Given the description of an element on the screen output the (x, y) to click on. 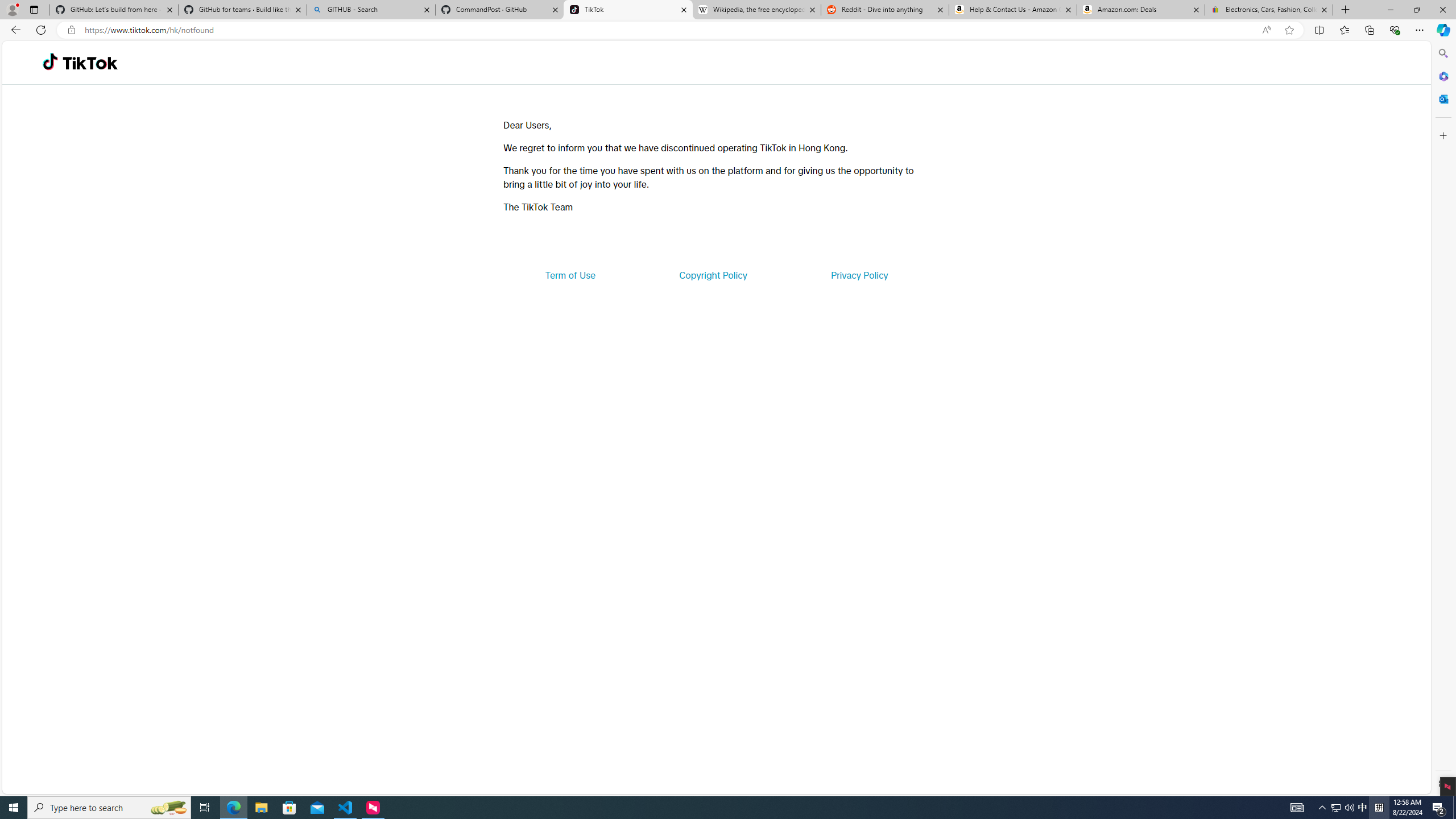
Amazon.com: Deals (1140, 9)
TikTok (89, 62)
